Given the description of an element on the screen output the (x, y) to click on. 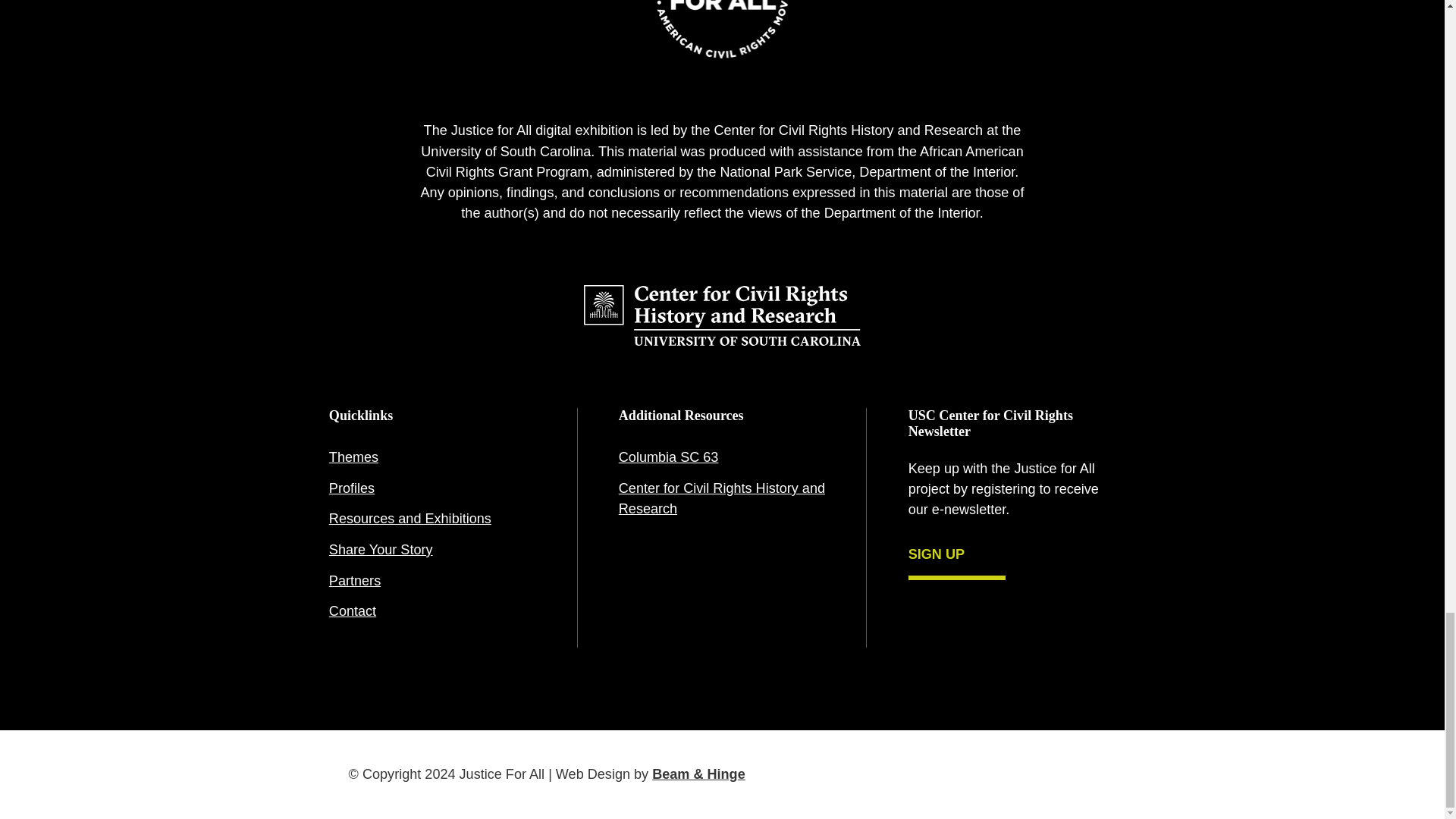
Columbia SC 63 (721, 457)
Center for Civil Rights History and Research (721, 498)
SIGN UP (957, 556)
Share Your Story (432, 549)
Themes (432, 457)
Resources and Exhibitions (432, 519)
Profiles (432, 488)
Partners (432, 581)
Contact (432, 612)
